Given the description of an element on the screen output the (x, y) to click on. 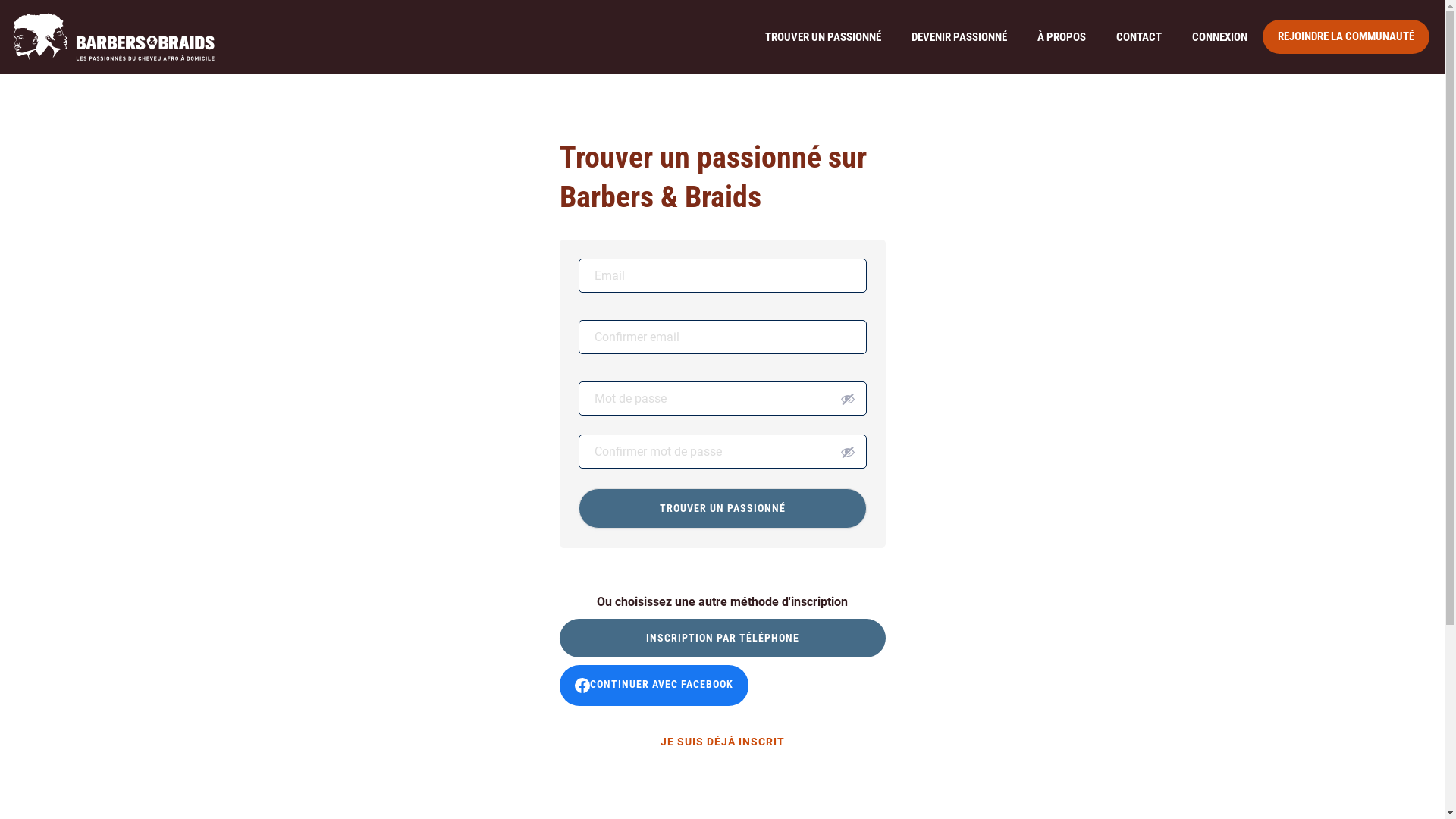
CONNEXION Element type: text (1219, 37)
Barbers & Braids Element type: hover (113, 36)
CONTINUER AVEC FACEBOOK Element type: text (653, 685)
Barbers & Braids Element type: hover (113, 35)
CONTACT Element type: text (1138, 37)
 Show password  Element type: hover (847, 451)
 Show password  Element type: hover (847, 398)
